Given the description of an element on the screen output the (x, y) to click on. 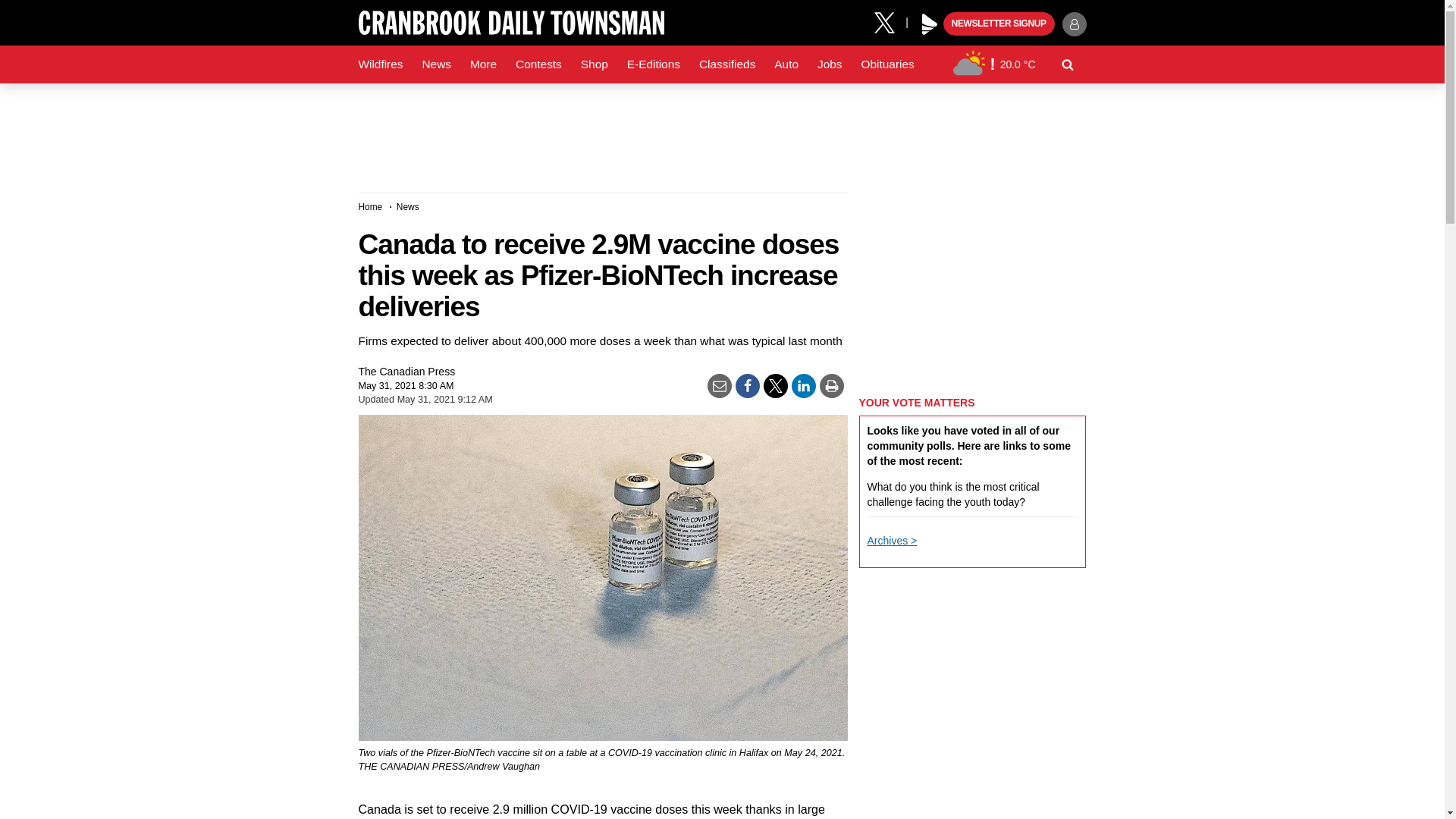
NEWSLETTER SIGNUP (998, 24)
Black Press Media (929, 24)
X (889, 21)
News (435, 64)
Play (929, 24)
Wildfires (380, 64)
